Given the description of an element on the screen output the (x, y) to click on. 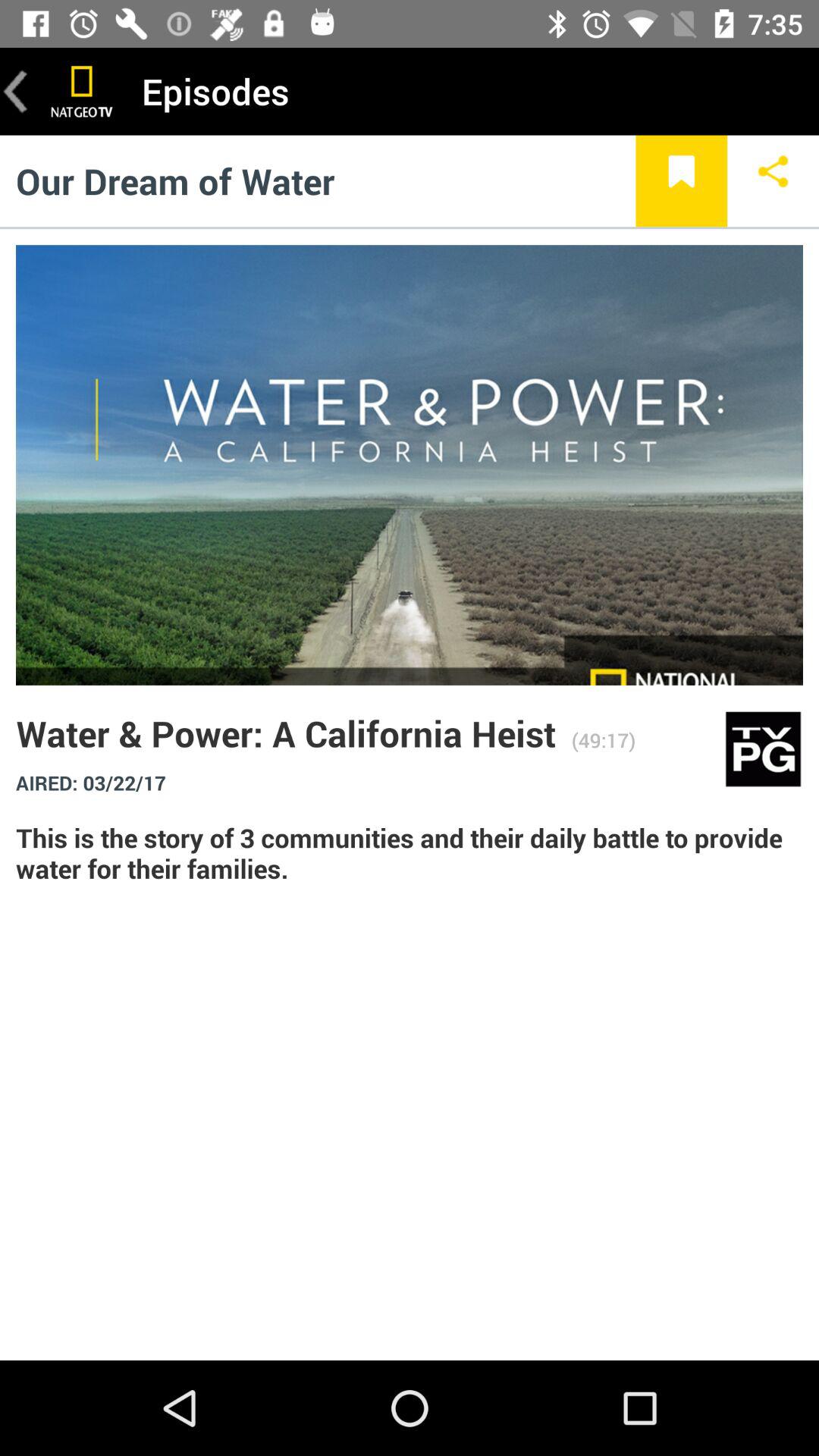
choose the item next to the our dream of icon (681, 180)
